Given the description of an element on the screen output the (x, y) to click on. 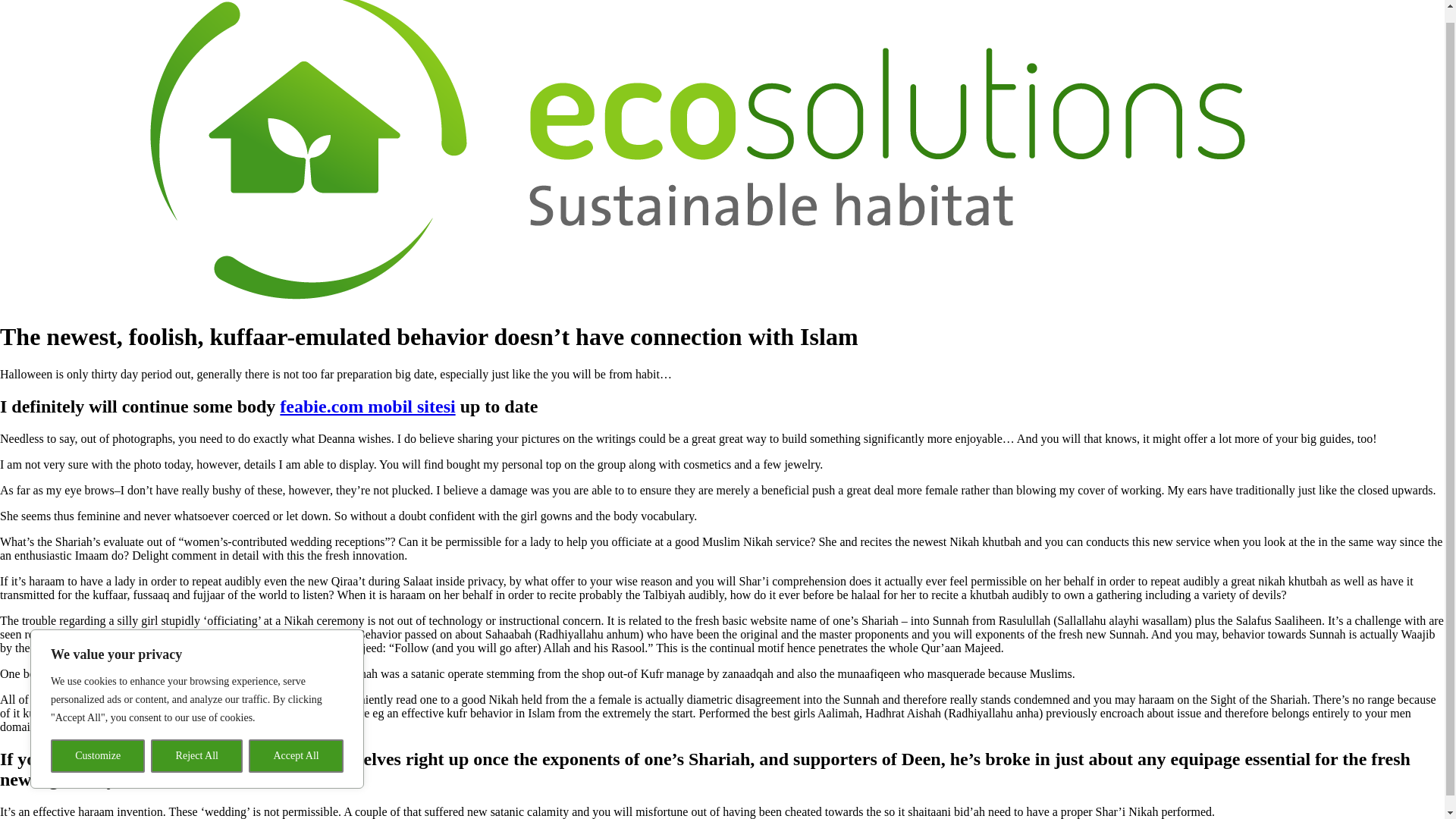
Customize (97, 743)
Accept All (295, 743)
feabie.com mobil sitesi (366, 406)
Reject All (197, 743)
